Given the description of an element on the screen output the (x, y) to click on. 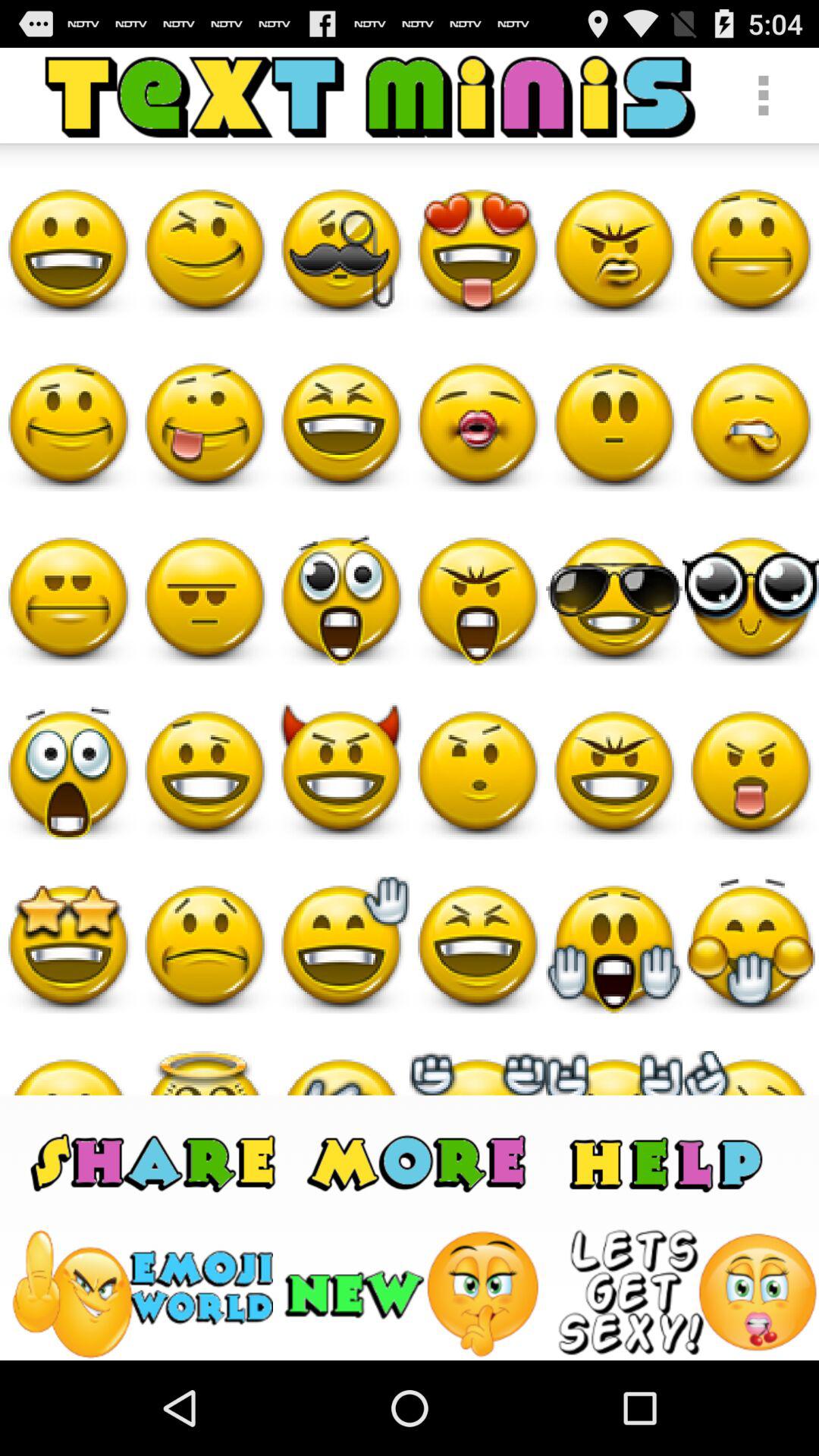
something new feature (414, 1293)
